Given the description of an element on the screen output the (x, y) to click on. 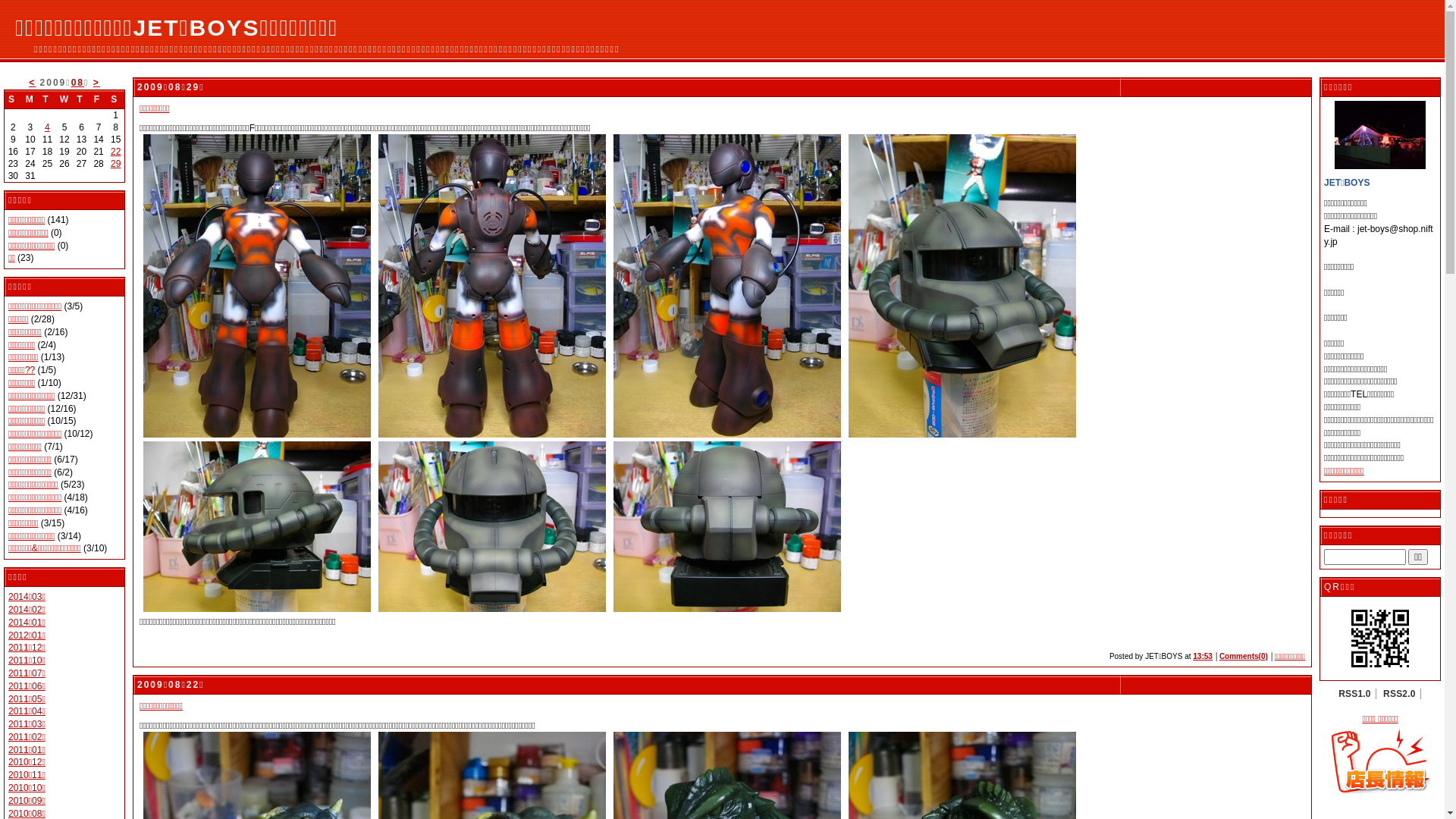
< Element type: text (31, 82)
08 Element type: text (77, 82)
> Element type: text (96, 82)
13:53 Element type: text (1202, 656)
RSS1.0 Element type: text (1354, 693)
4 Element type: text (47, 127)
Comments(0) Element type: text (1243, 656)
RSS2.0 Element type: text (1399, 693)
29 Element type: text (115, 163)
22 Element type: text (115, 151)
